Given the description of an element on the screen output the (x, y) to click on. 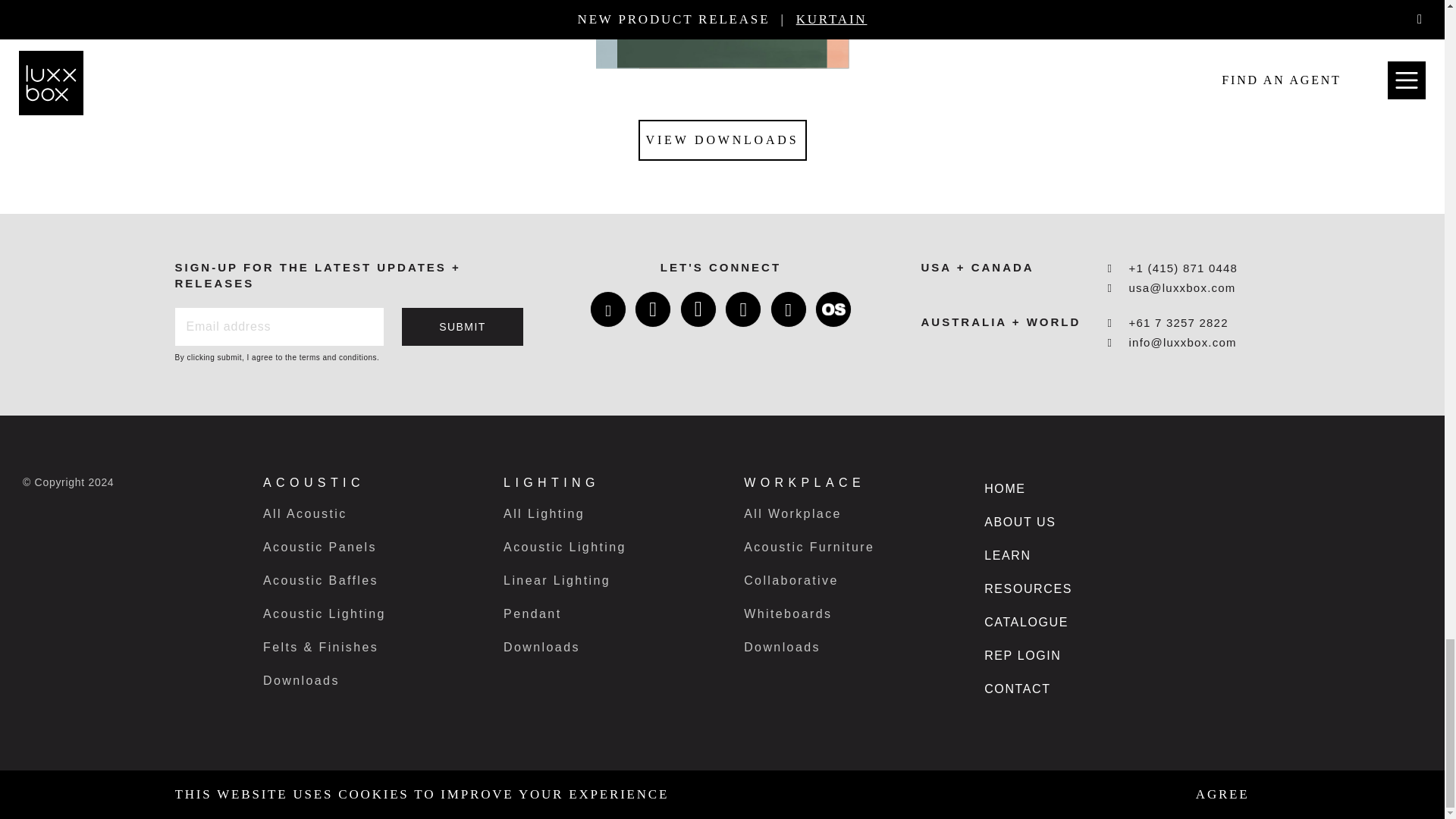
Submit (462, 326)
